Given the description of an element on the screen output the (x, y) to click on. 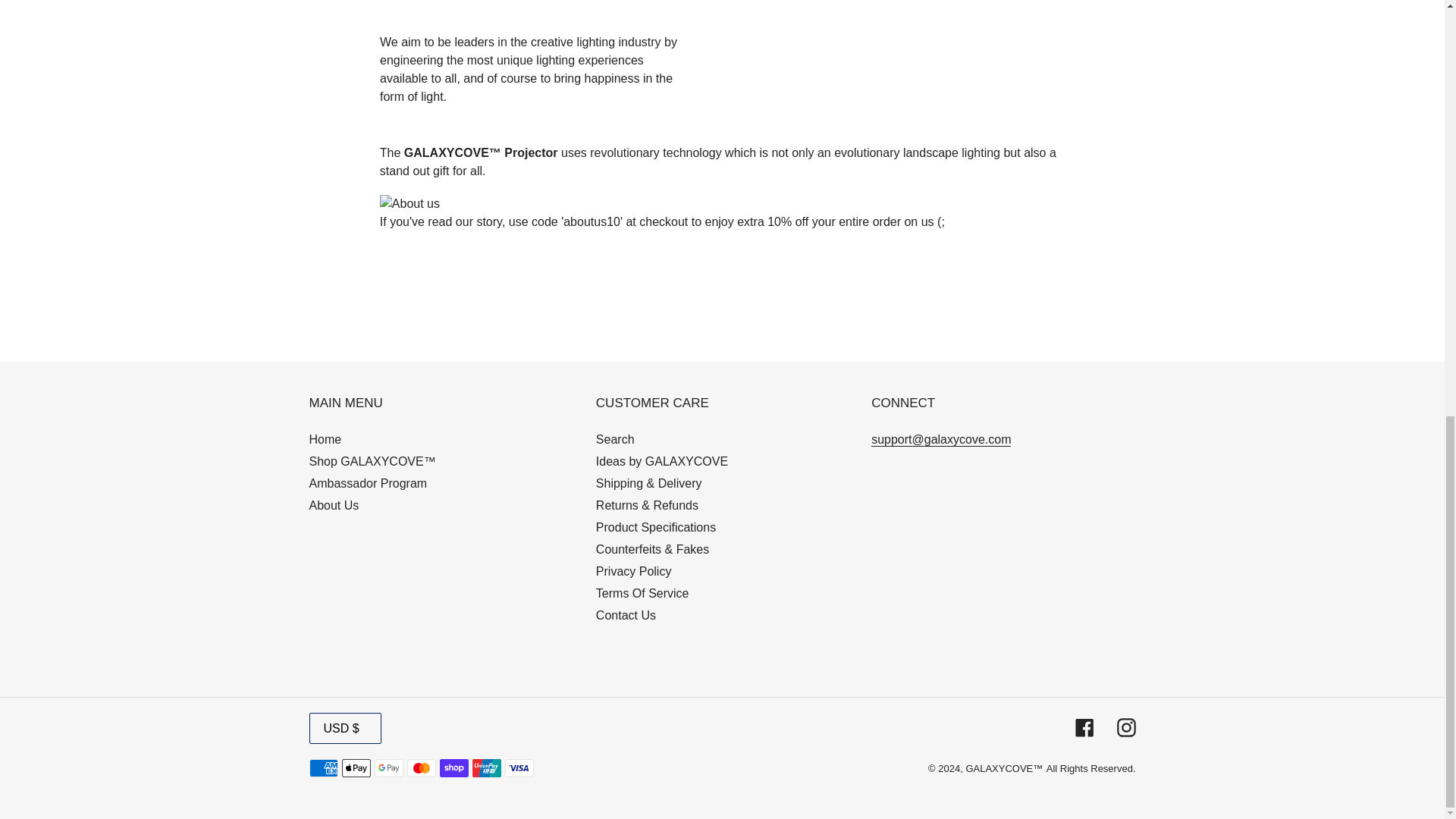
About Us (333, 504)
Home (325, 439)
Product Specifications (655, 526)
Ideas by GALAXYCOVE (661, 461)
Terms Of Service (641, 593)
Privacy Policy (633, 571)
Search (614, 439)
Ambassador Program (368, 482)
Contact Us (625, 615)
